Given the description of an element on the screen output the (x, y) to click on. 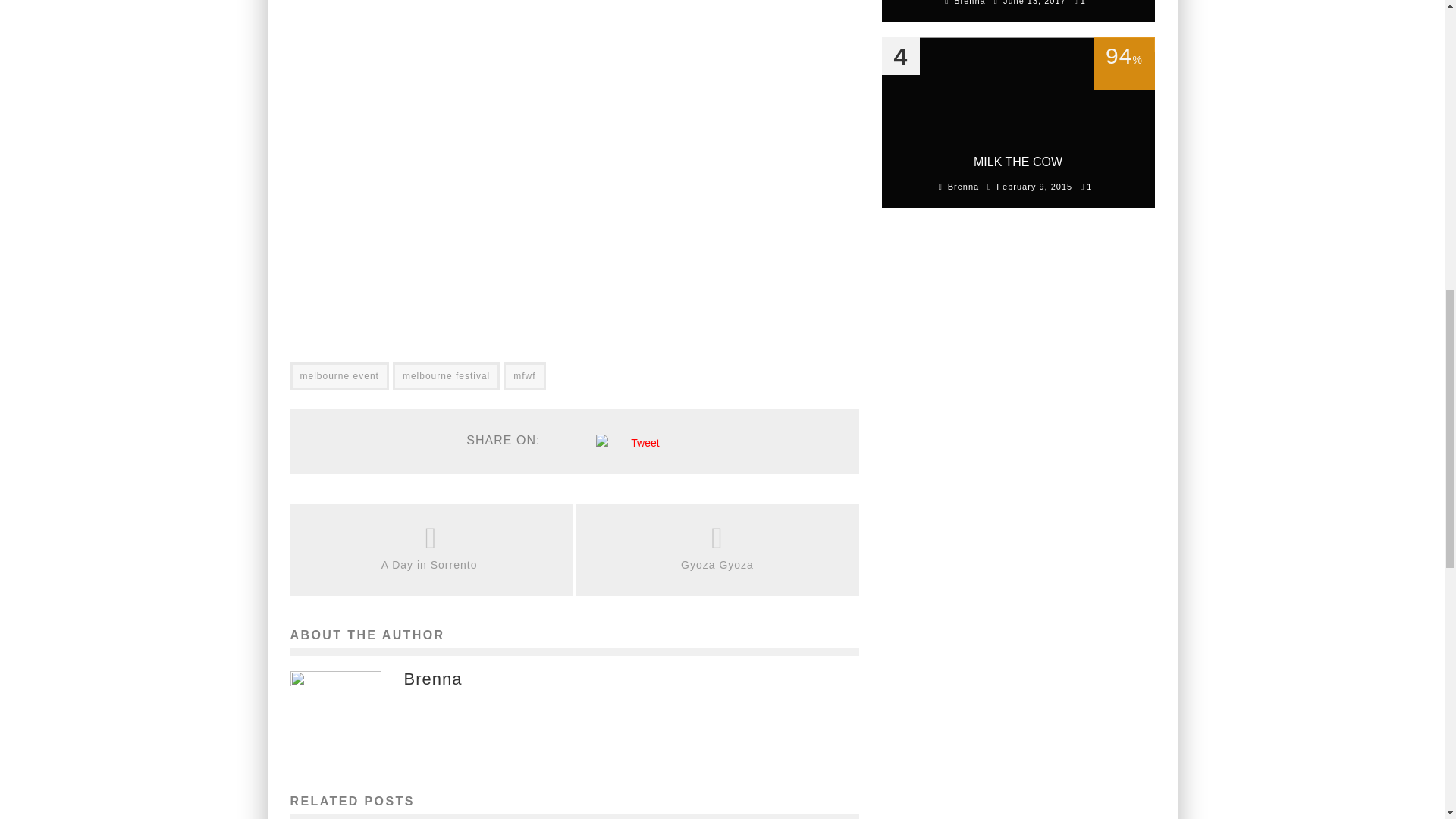
A Day in Sorrento  (430, 565)
Brenna (432, 678)
Gyoza Gyoza (717, 565)
mfwf (523, 375)
Tweet (644, 442)
melbourne event (338, 375)
melbourne festival (446, 375)
